Given the description of an element on the screen output the (x, y) to click on. 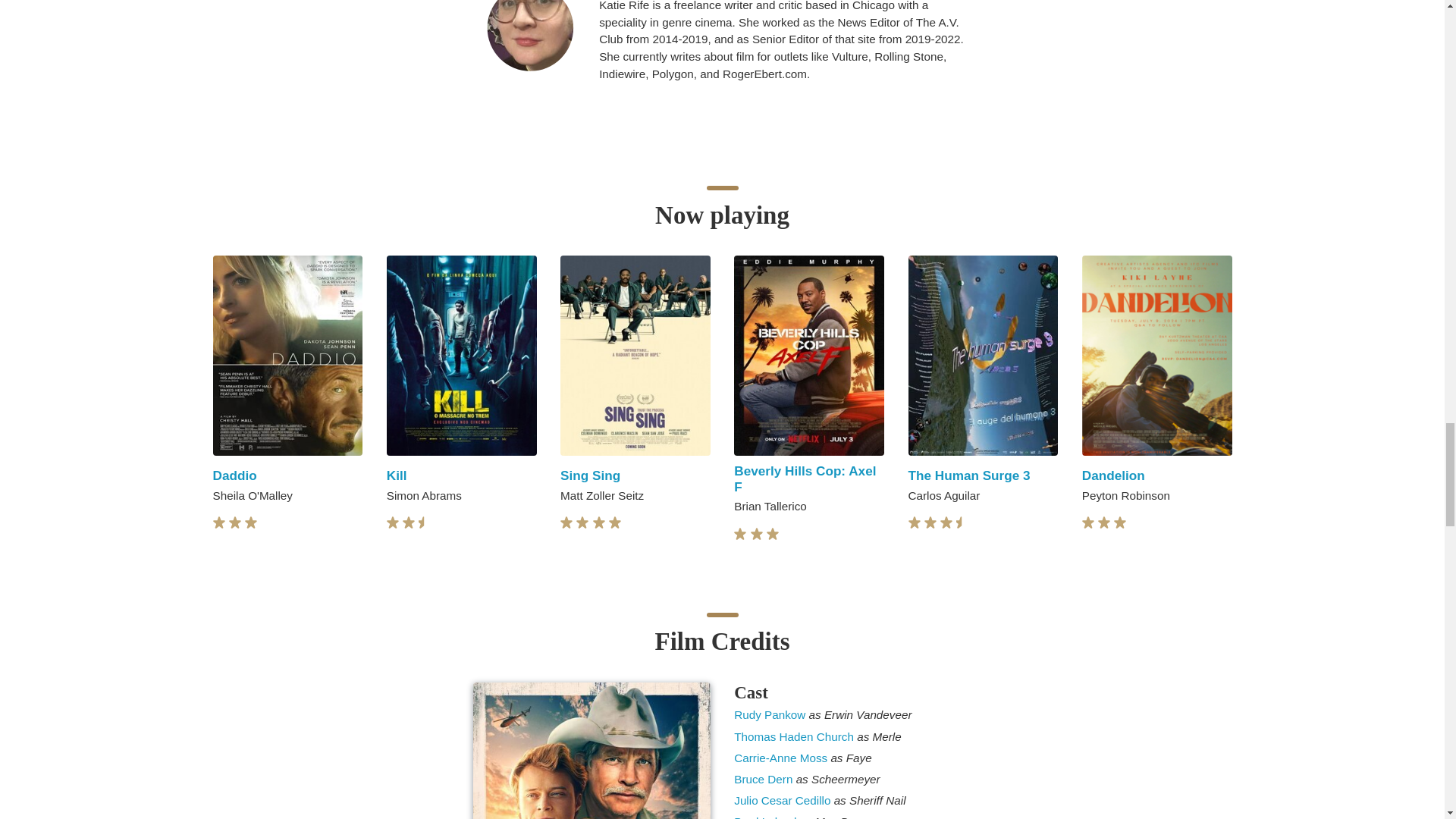
star-half (424, 522)
Katie Rife (529, 35)
Rudy Pankow (770, 714)
Carrie-Anne Moss (781, 757)
Beverly Hills Cop: Axel F (804, 478)
star-full (218, 522)
star-full (250, 522)
Kill (397, 475)
Dandelion (1112, 475)
star-full (582, 522)
Sing Sing (590, 475)
Thomas Haden Church (795, 736)
star-full (566, 522)
Daddio (234, 475)
star-full (392, 522)
